Given the description of an element on the screen output the (x, y) to click on. 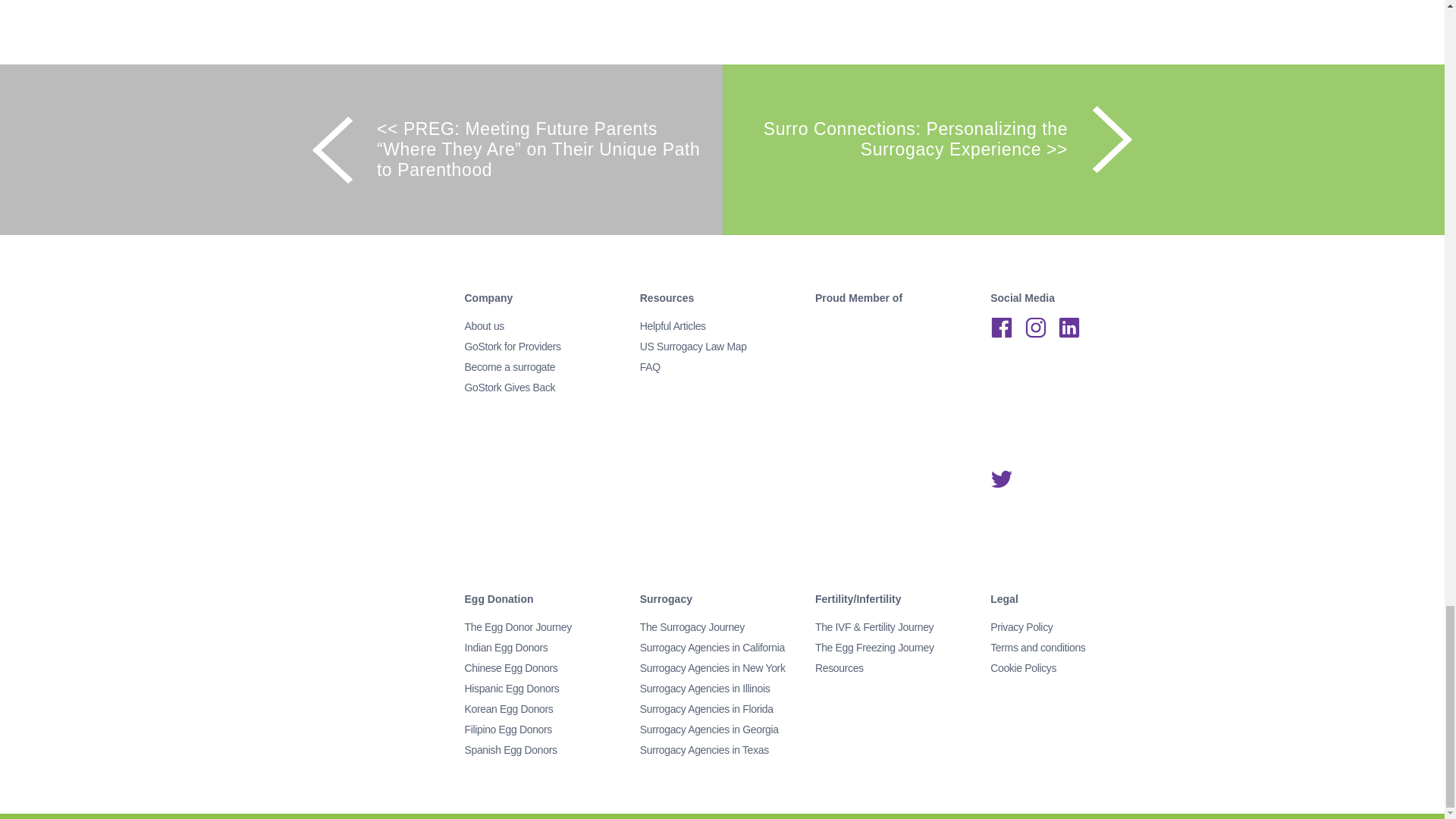
Helpful Articles (673, 326)
Chinese Egg Donors (510, 667)
Indian Egg Donors (505, 647)
Become a surrogate (509, 367)
FAQ (650, 367)
GoStork Gives Back (509, 387)
The Egg Donor Journey (517, 626)
GoStork for Providers (512, 346)
About us (483, 326)
US Surrogacy Law Map (693, 346)
